Given the description of an element on the screen output the (x, y) to click on. 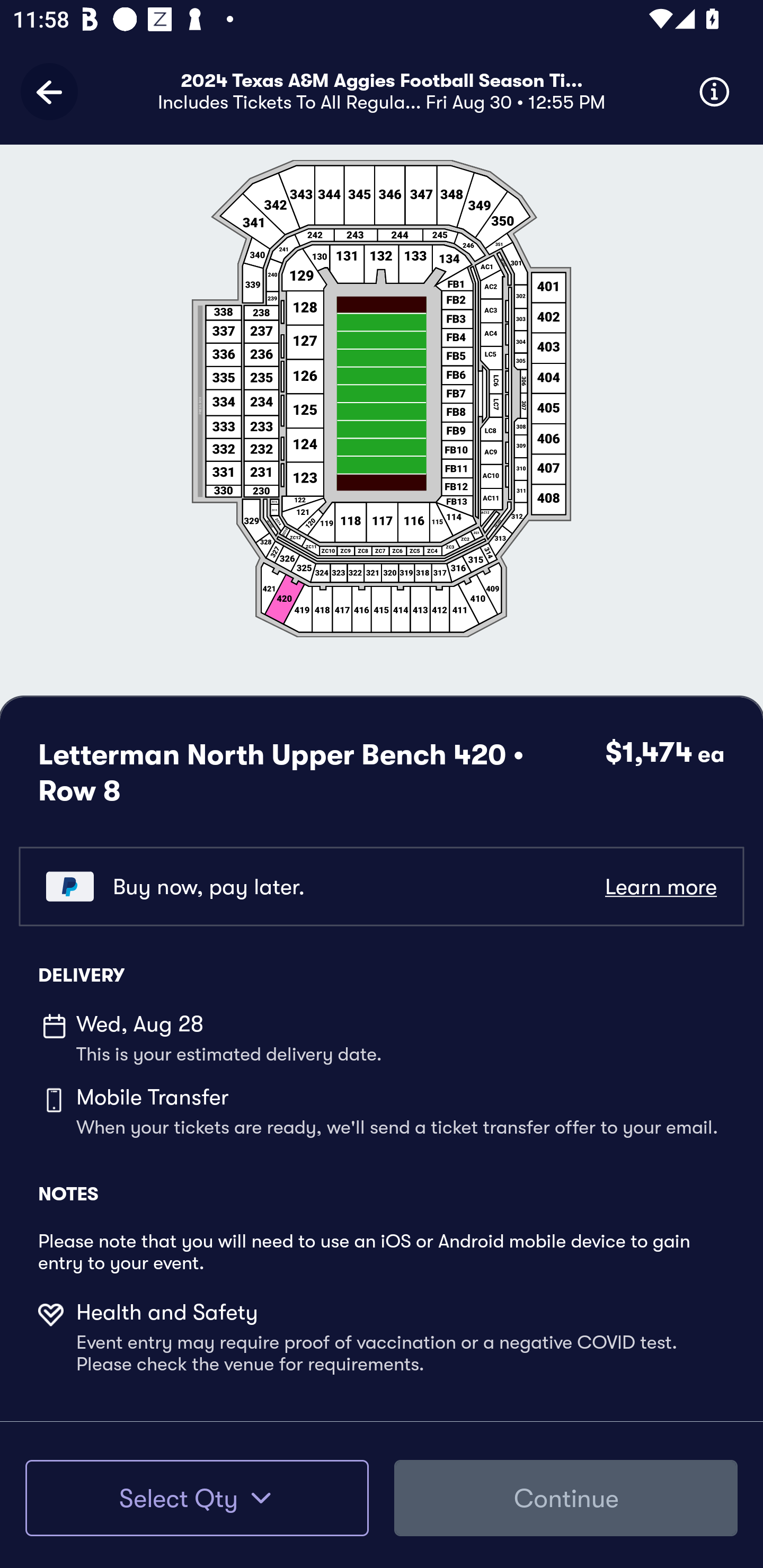
Learn more (660, 886)
Select Qty (196, 1497)
Continue (565, 1497)
